Given the description of an element on the screen output the (x, y) to click on. 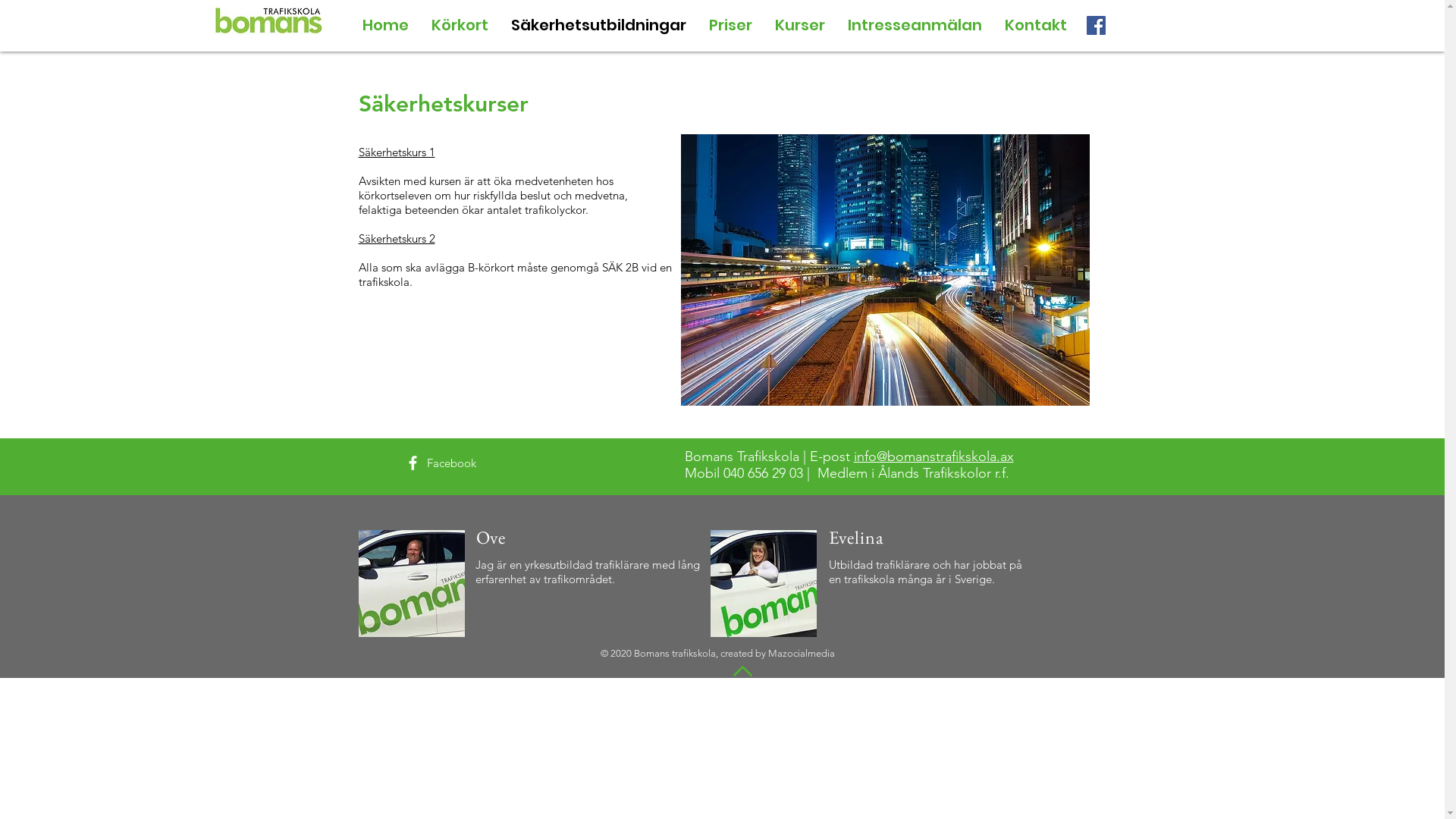
info@bomanstrafikskola.ax Element type: text (933, 456)
Kontakt Element type: text (1035, 25)
Facebook Element type: text (450, 462)
Priser Element type: text (730, 25)
Home Element type: text (384, 25)
Kurser Element type: text (798, 25)
